Given the description of an element on the screen output the (x, y) to click on. 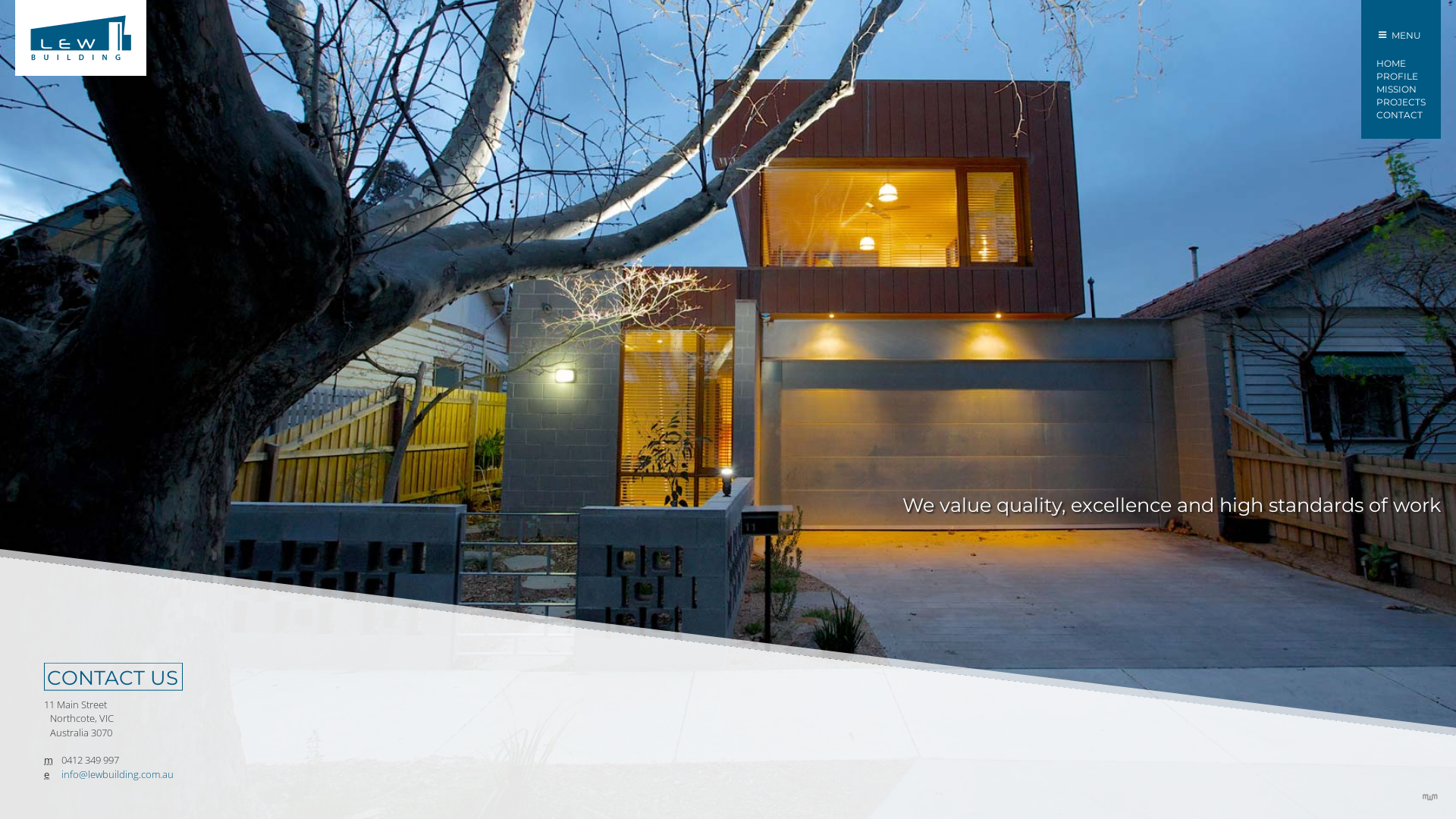
HOME Element type: text (1400, 63)
info@lewbuilding.com.au Element type: text (117, 773)
MISSION Element type: text (1400, 89)
CONTACT Element type: text (1400, 114)
PROFILE Element type: text (1400, 76)
PROJECTS Element type: text (1400, 101)
